Given the description of an element on the screen output the (x, y) to click on. 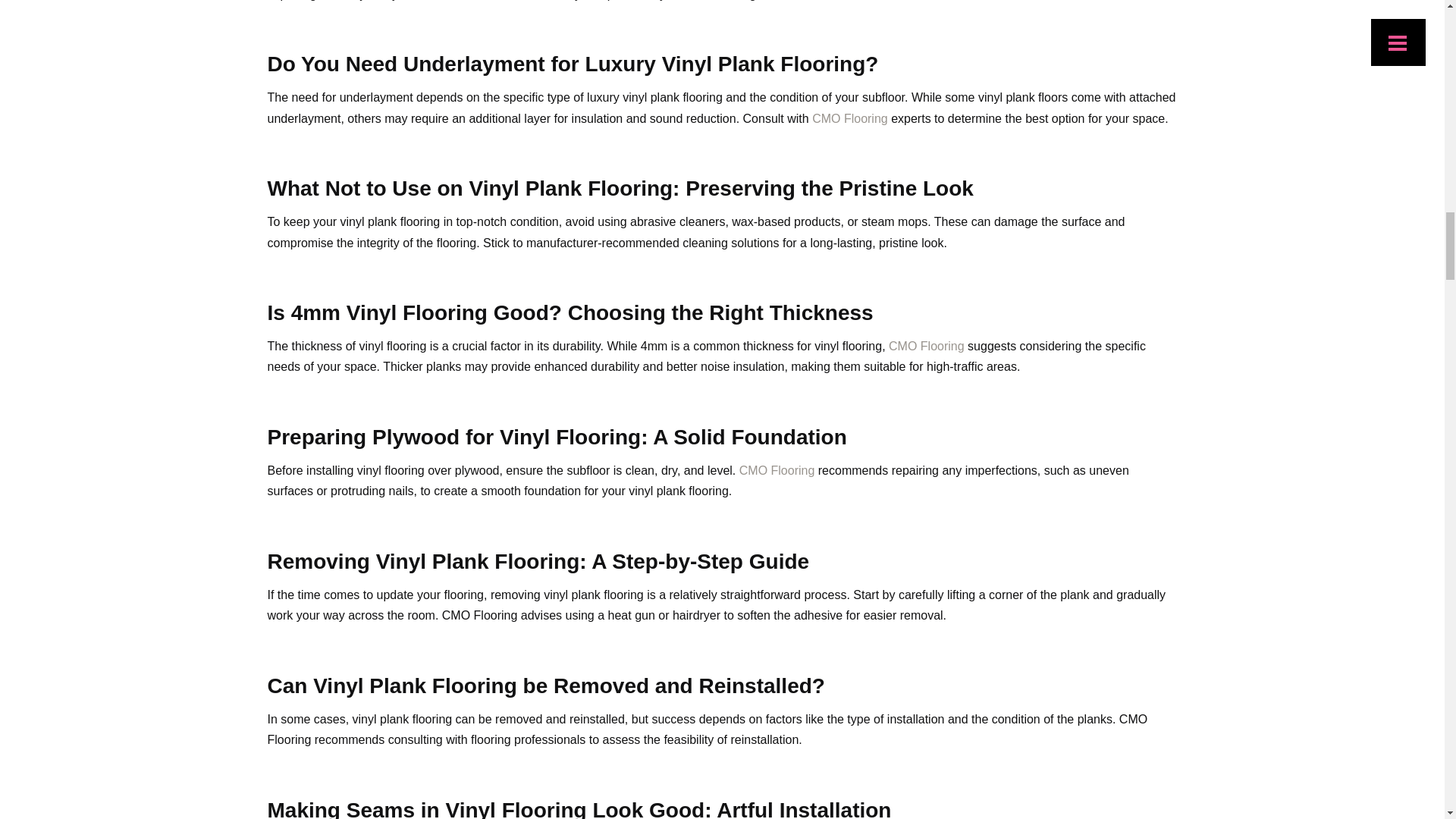
CMO Flooring (777, 470)
CMO Flooring (925, 345)
CMO Flooring (850, 118)
